Given the description of an element on the screen output the (x, y) to click on. 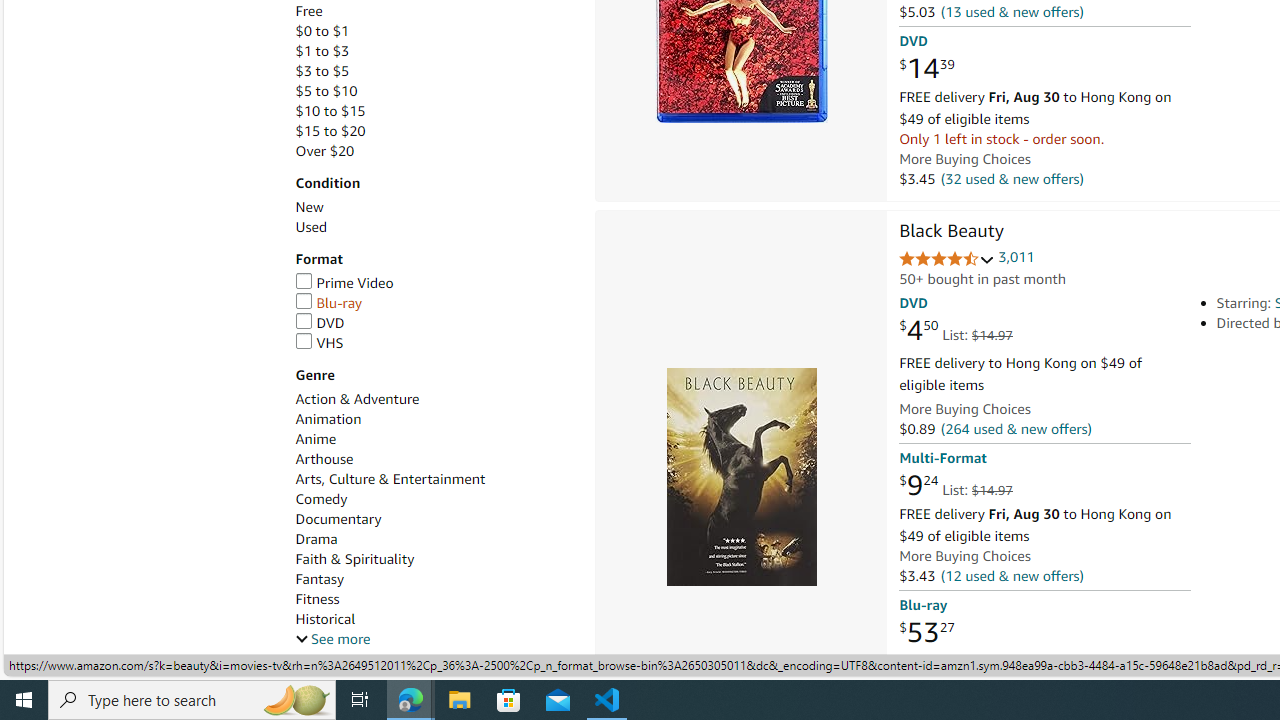
Used (434, 227)
Fitness (317, 599)
$3 to $5 (434, 71)
Drama (315, 538)
New (308, 207)
Documentary (434, 519)
Animation (328, 419)
Over $20 (324, 151)
Action & Adventure (434, 399)
Arts, Culture & Entertainment (434, 479)
VHS (434, 343)
$9.24 List: $14.97 (955, 485)
Used (310, 227)
Arthouse (324, 459)
Comedy (434, 499)
